Given the description of an element on the screen output the (x, y) to click on. 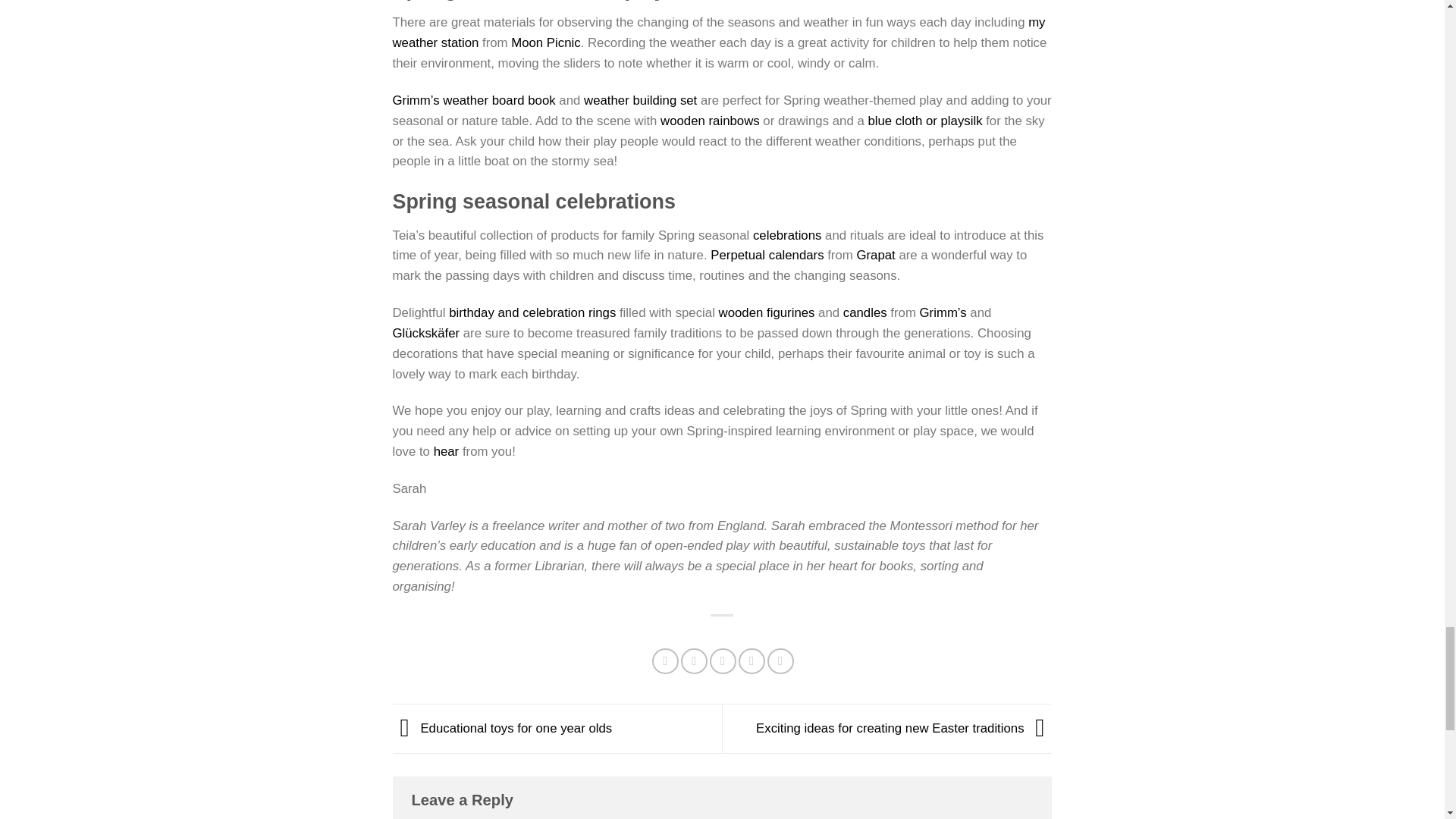
Pin on Pinterest (751, 661)
Share on Twitter (694, 661)
Email to a Friend (723, 661)
Share on LinkedIn (780, 661)
Share on Facebook (665, 661)
